Given the description of an element on the screen output the (x, y) to click on. 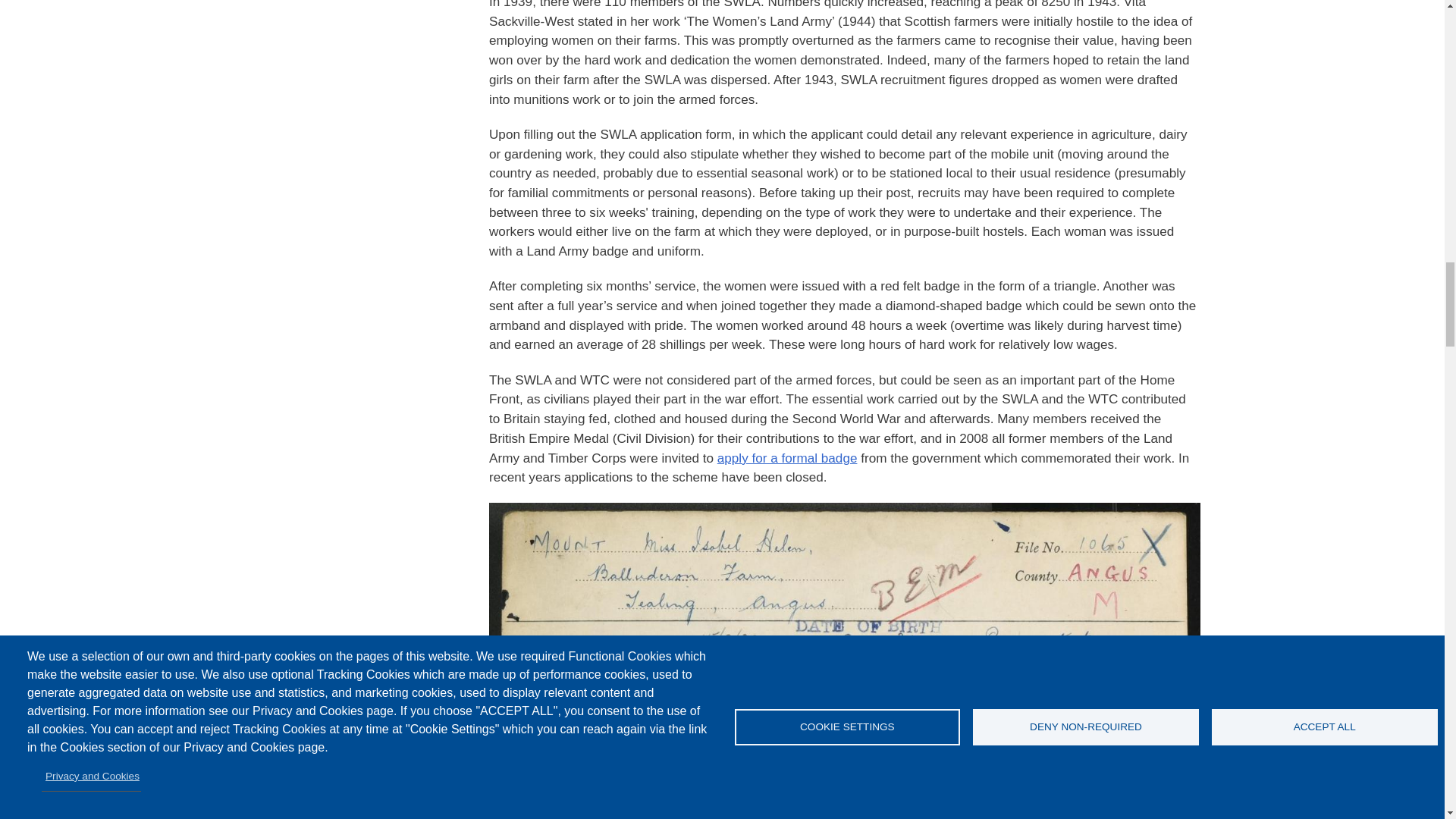
apply for a formal badge (787, 458)
